Given the description of an element on the screen output the (x, y) to click on. 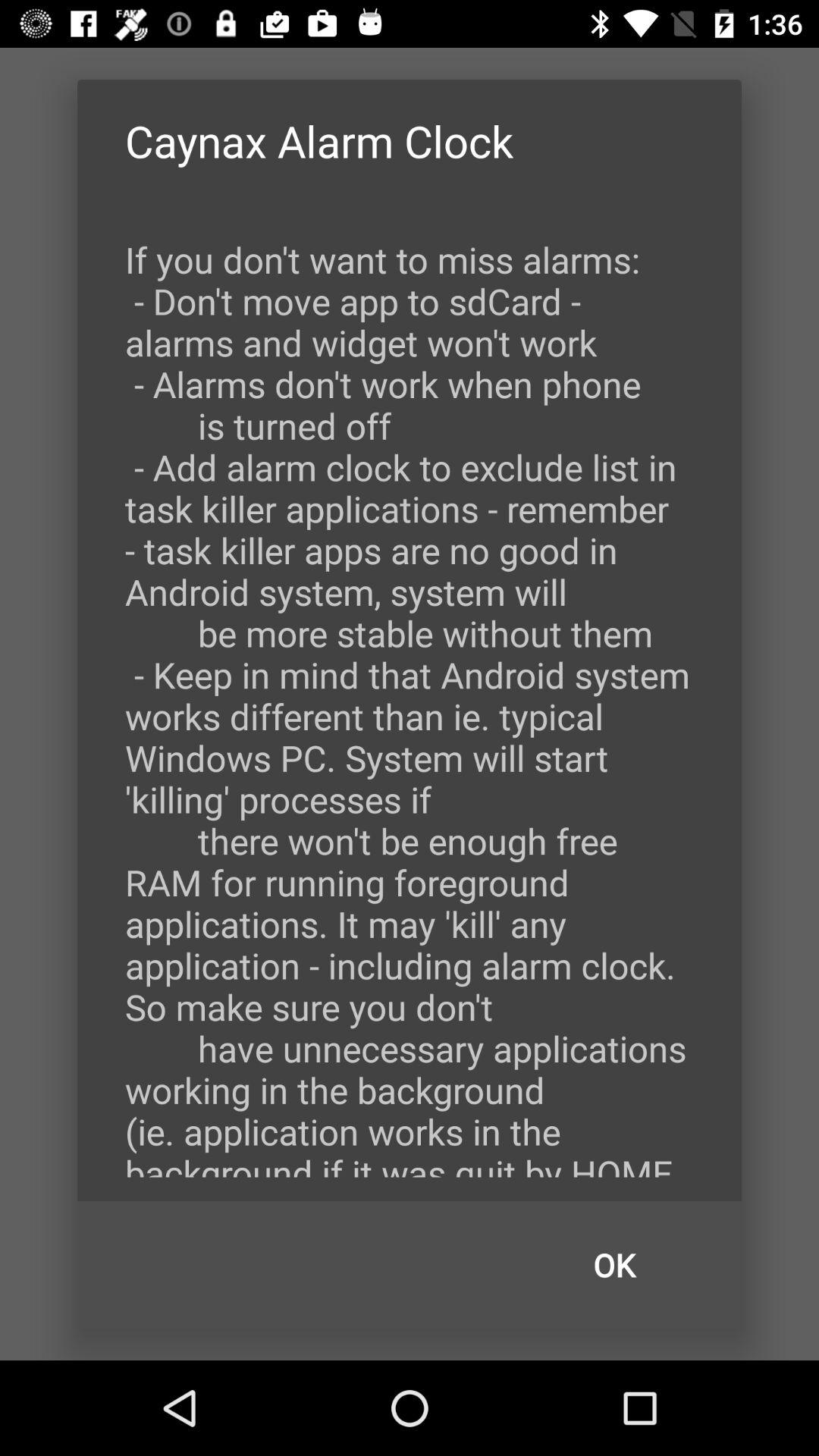
turn off ok item (613, 1264)
